Given the description of an element on the screen output the (x, y) to click on. 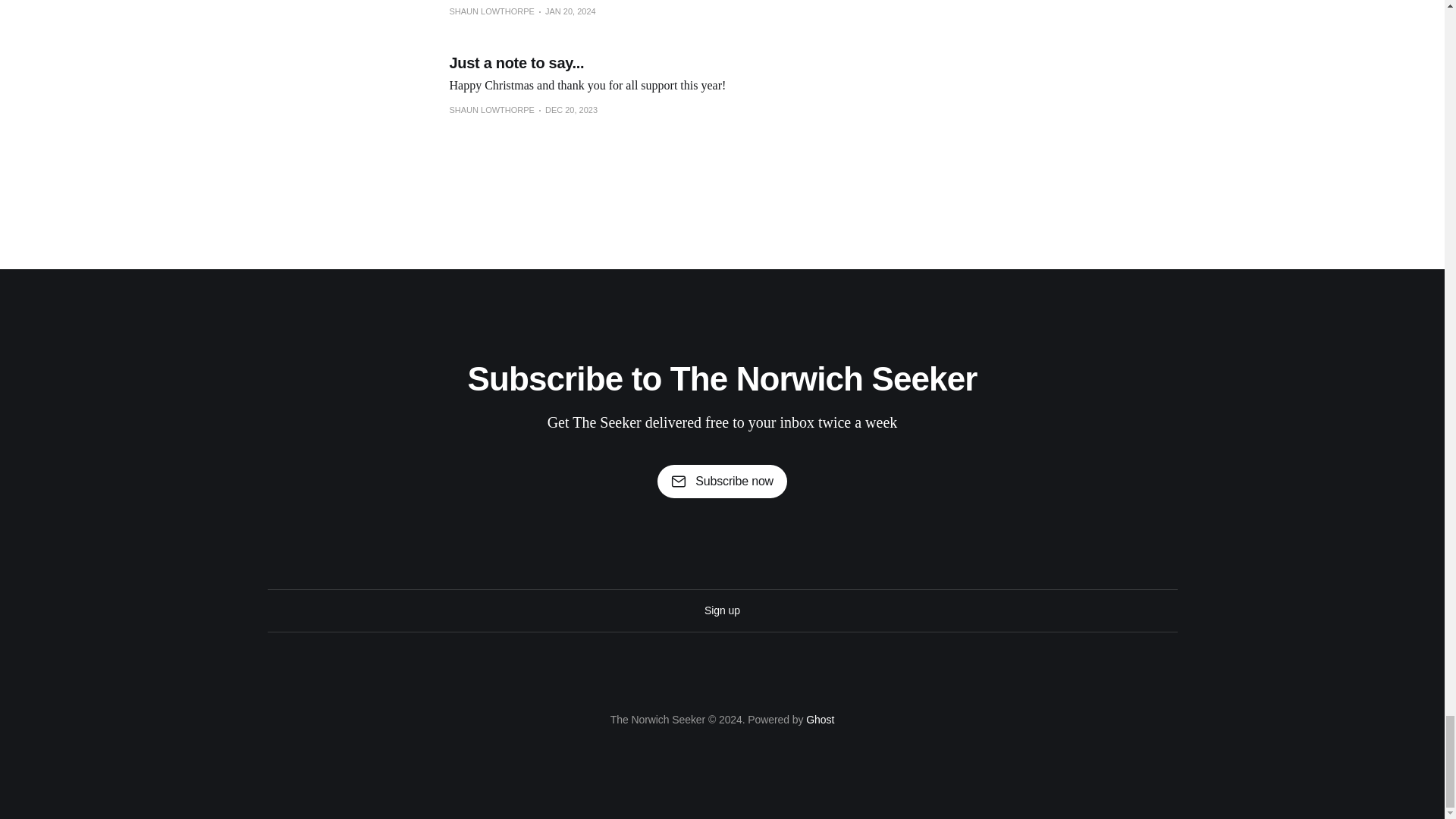
Ghost (820, 719)
Subscribe now (722, 481)
Sign up (721, 610)
